Given the description of an element on the screen output the (x, y) to click on. 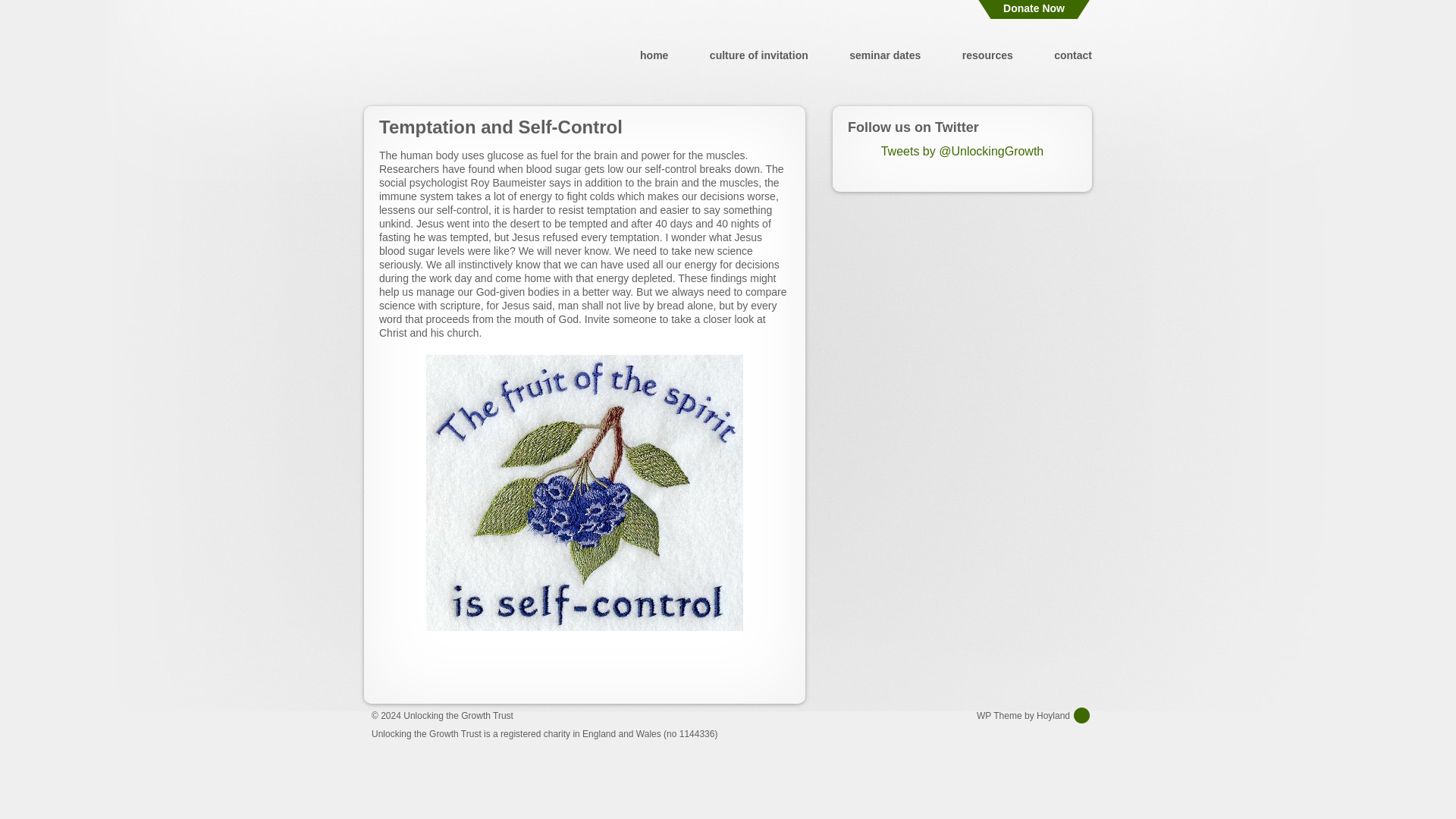
culture of invitation (759, 55)
resources (987, 55)
seminar dates (884, 55)
Unlocking the Growth Trust (458, 715)
Wordpress theme by Hoyland Web Design (1033, 715)
contact (1073, 55)
Donate Now (1033, 9)
Unlocking the Growth (457, 55)
home (654, 55)
Unlocking the Growth Trust (458, 715)
Unlocking the Growth Trust (457, 55)
WP Theme by Hoyland (1033, 715)
